Given the description of an element on the screen output the (x, y) to click on. 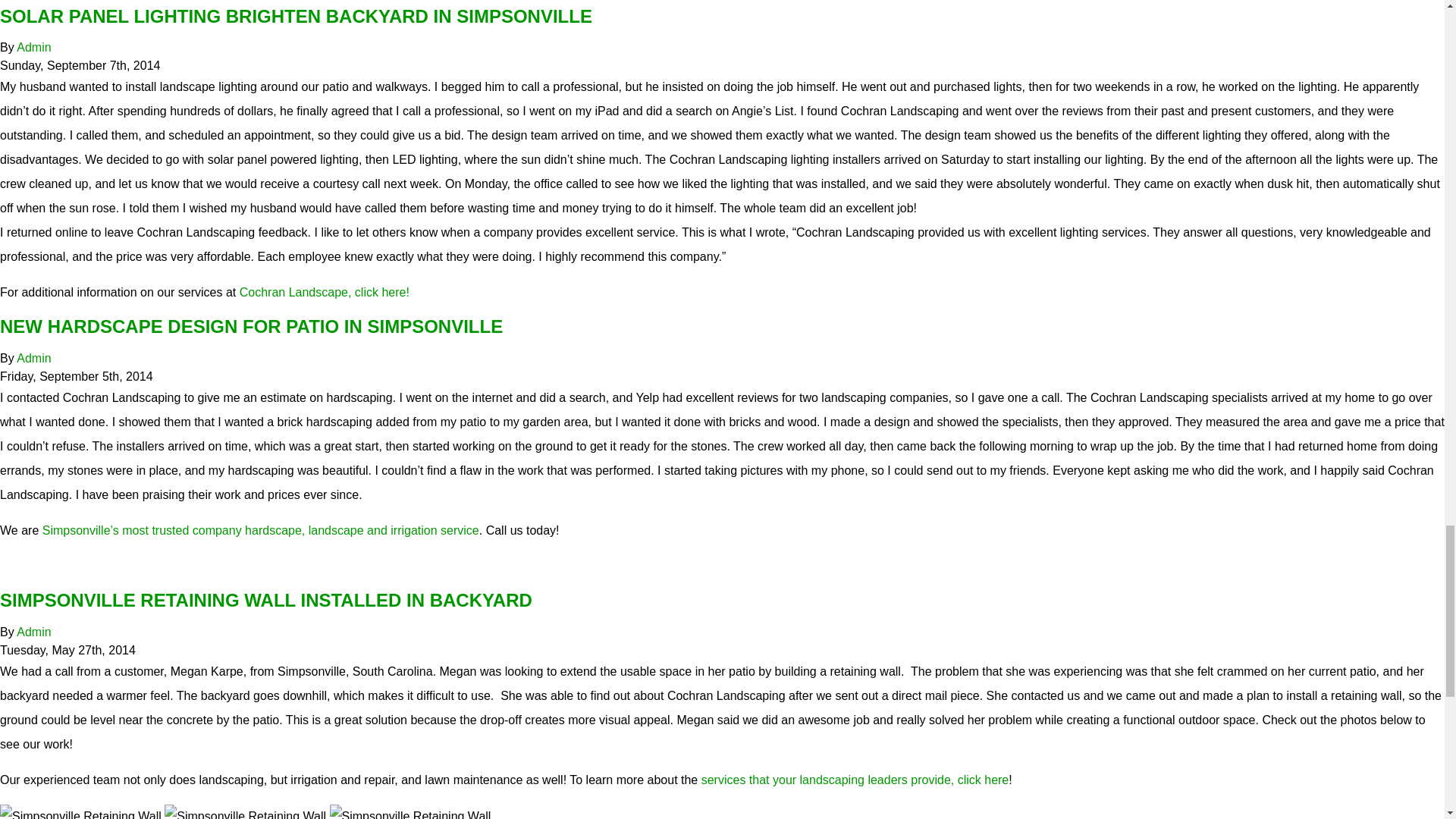
Admin (33, 358)
Admin (33, 631)
Admin (33, 47)
